Given the description of an element on the screen output the (x, y) to click on. 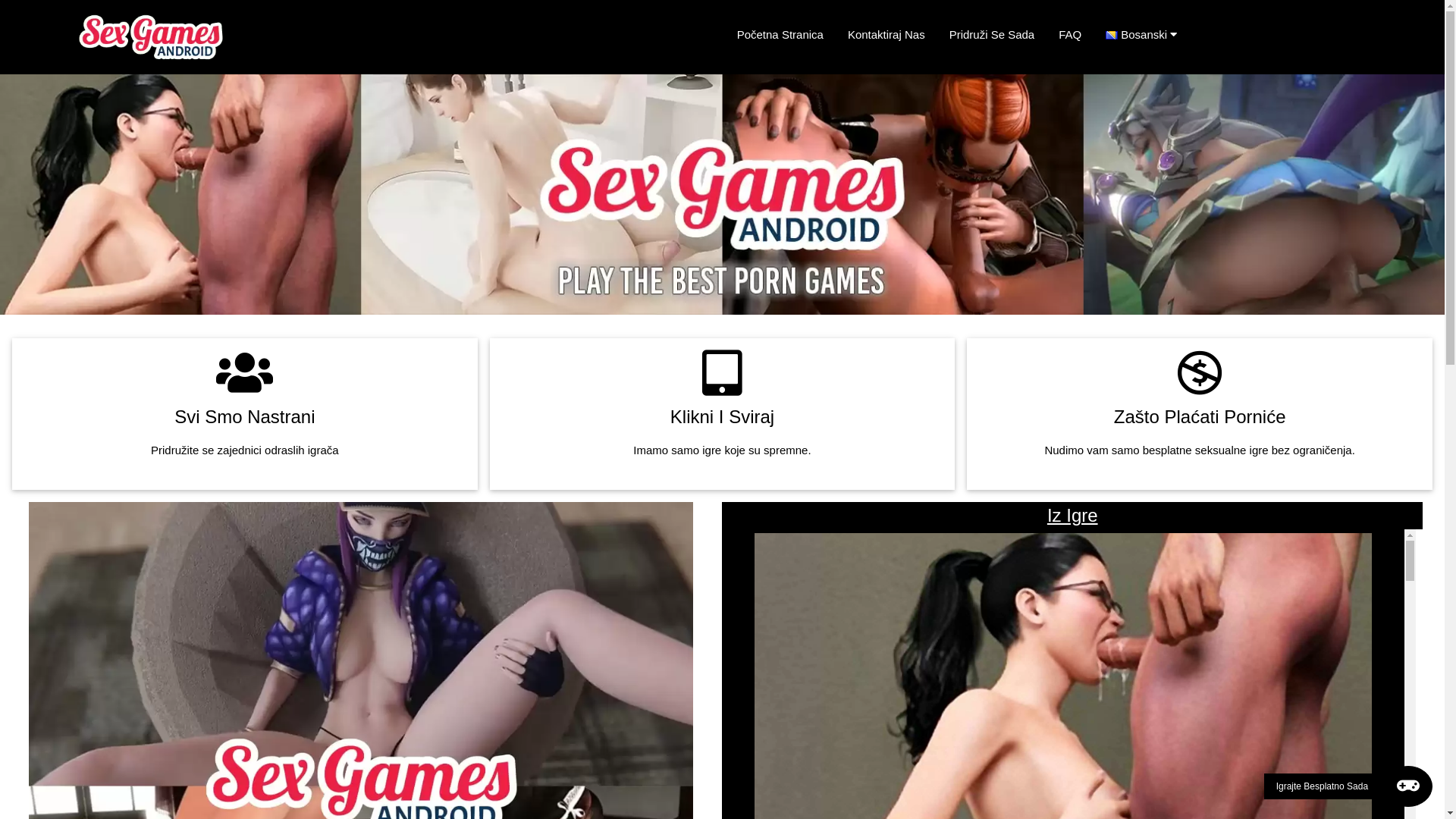
Kontaktiraj Nas Element type: text (886, 35)
FAQ Element type: text (1069, 35)
Bosanski Element type: text (1147, 35)
Igrajte Besplatno Sada Element type: text (1348, 785)
